Given the description of an element on the screen output the (x, y) to click on. 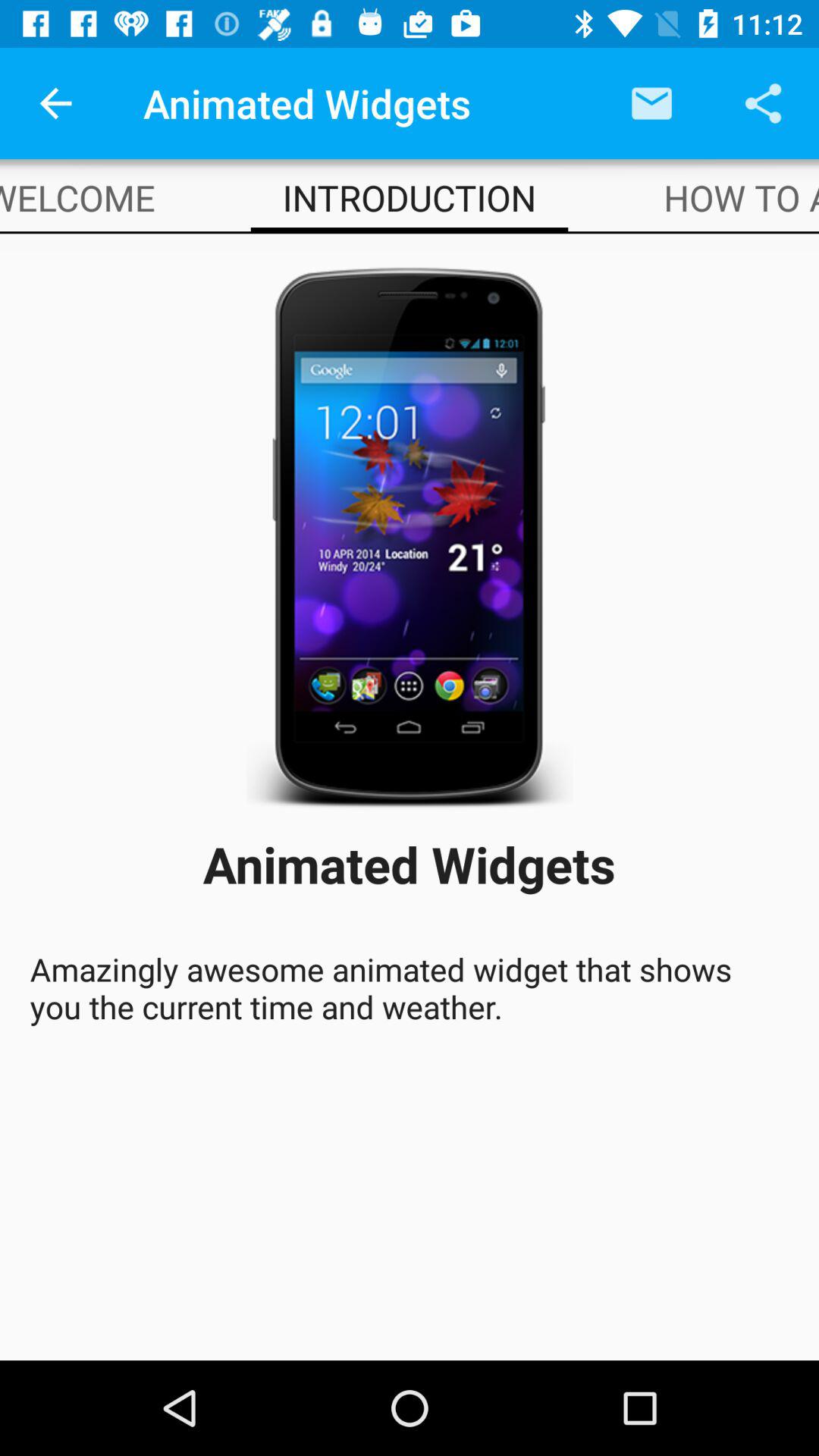
turn off icon to the right of the introduction item (741, 197)
